Given the description of an element on the screen output the (x, y) to click on. 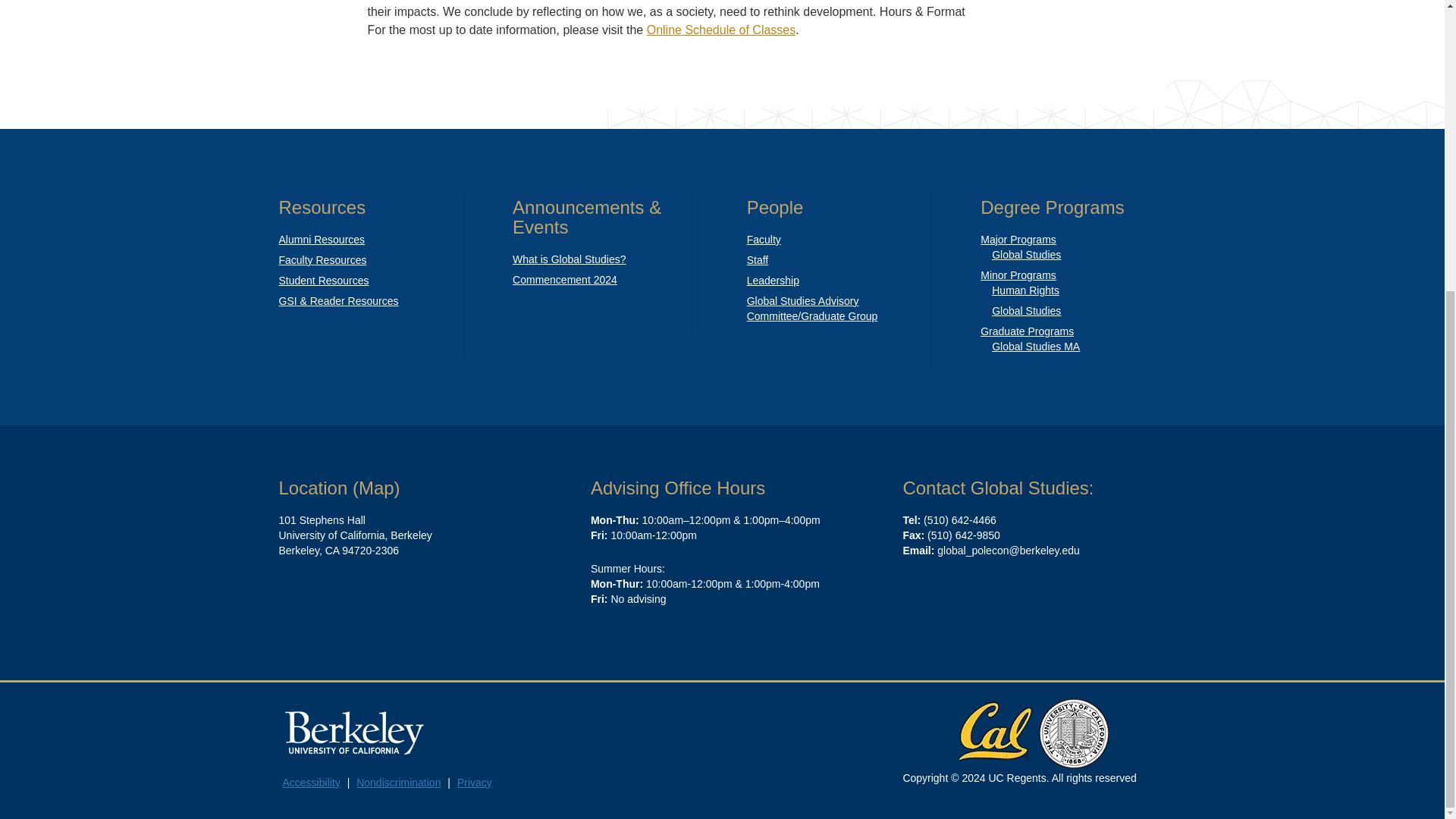
Berkeley University of California (354, 732)
